Given the description of an element on the screen output the (x, y) to click on. 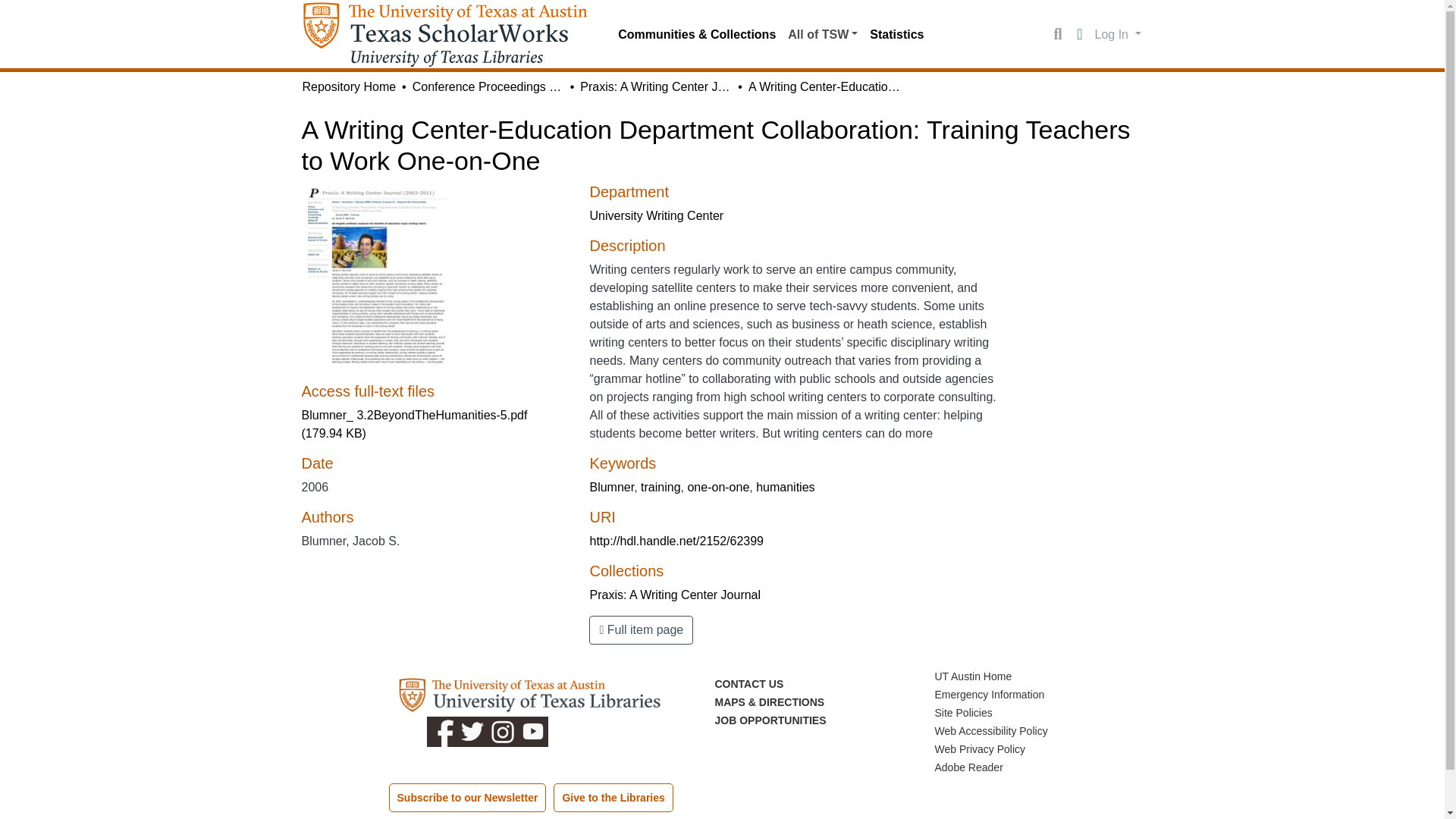
JOB OPPORTUNITIES (769, 720)
CONTACT US (748, 684)
UT Austin Home (972, 676)
humanities (784, 486)
Statistics (896, 34)
Blumner (611, 486)
training (659, 486)
Praxis: A Writing Center Journal (655, 86)
All of TSW (822, 34)
Search (1057, 34)
University Writing Center (656, 215)
Log In (1117, 33)
Full item page (641, 629)
Praxis: A Writing Center Journal (674, 594)
Conference Proceedings and Journals (488, 86)
